Given the description of an element on the screen output the (x, y) to click on. 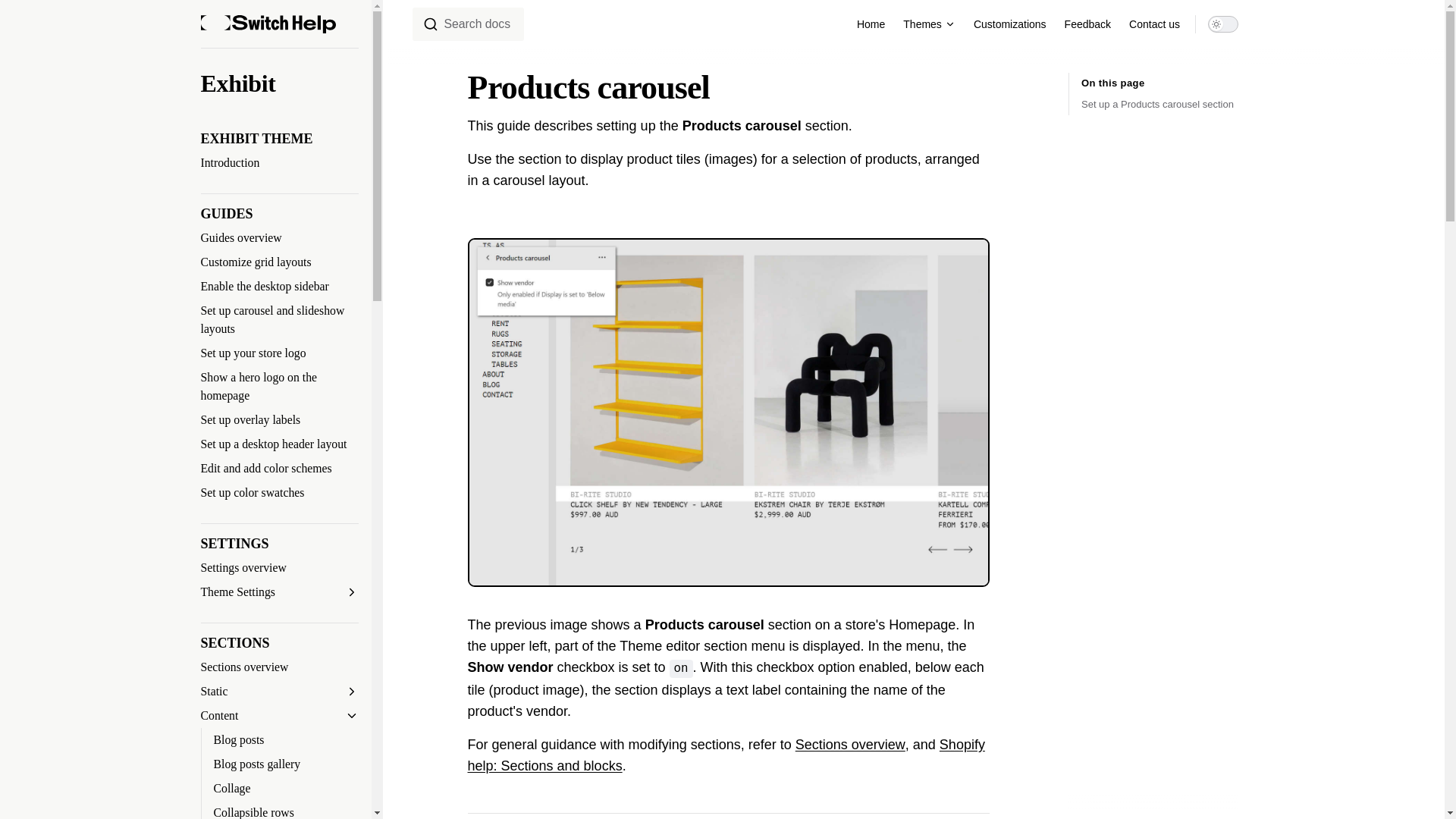
Customizations (1009, 24)
Set up your store logo (279, 353)
Edit and add color schemes (279, 468)
Set up a Products carousel section (1160, 104)
Feedback (1087, 24)
toggle dark mode (1223, 23)
Skip to content (23, 16)
Set up a desktop header layout (279, 444)
Enable the desktop sidebar (279, 286)
Show a hero logo on the homepage (279, 386)
